Given the description of an element on the screen output the (x, y) to click on. 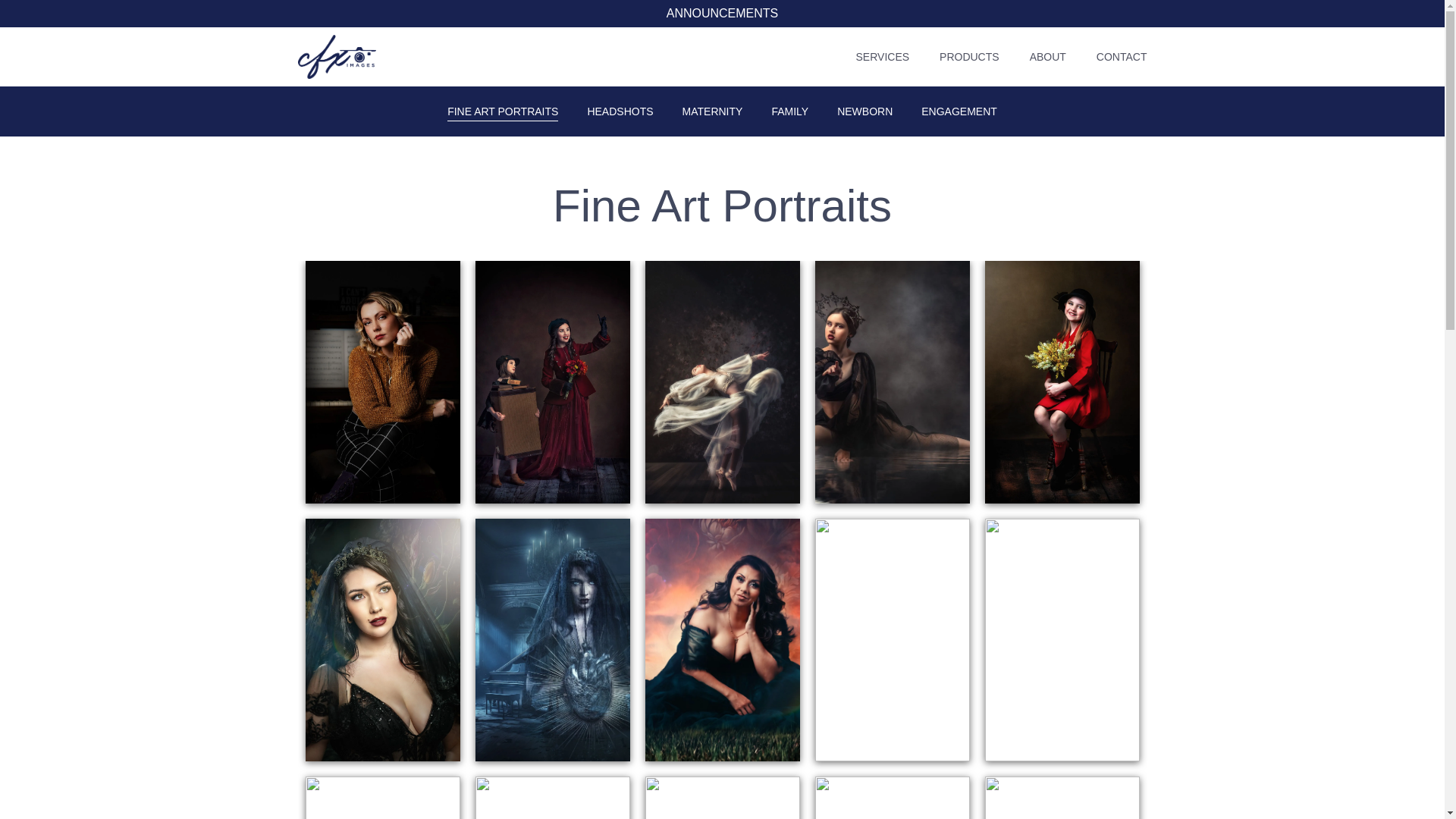
CONTACT (1121, 56)
ENGAGEMENT (959, 111)
FAMILY (789, 111)
PRODUCTS (968, 56)
FINE ART PORTRAITS (501, 111)
ABOUT (1047, 56)
MATERNITY (712, 111)
SERVICES (883, 56)
HEADSHOTS (619, 111)
ANNOUNCEMENTS (722, 12)
NEWBORN (864, 111)
